Given the description of an element on the screen output the (x, y) to click on. 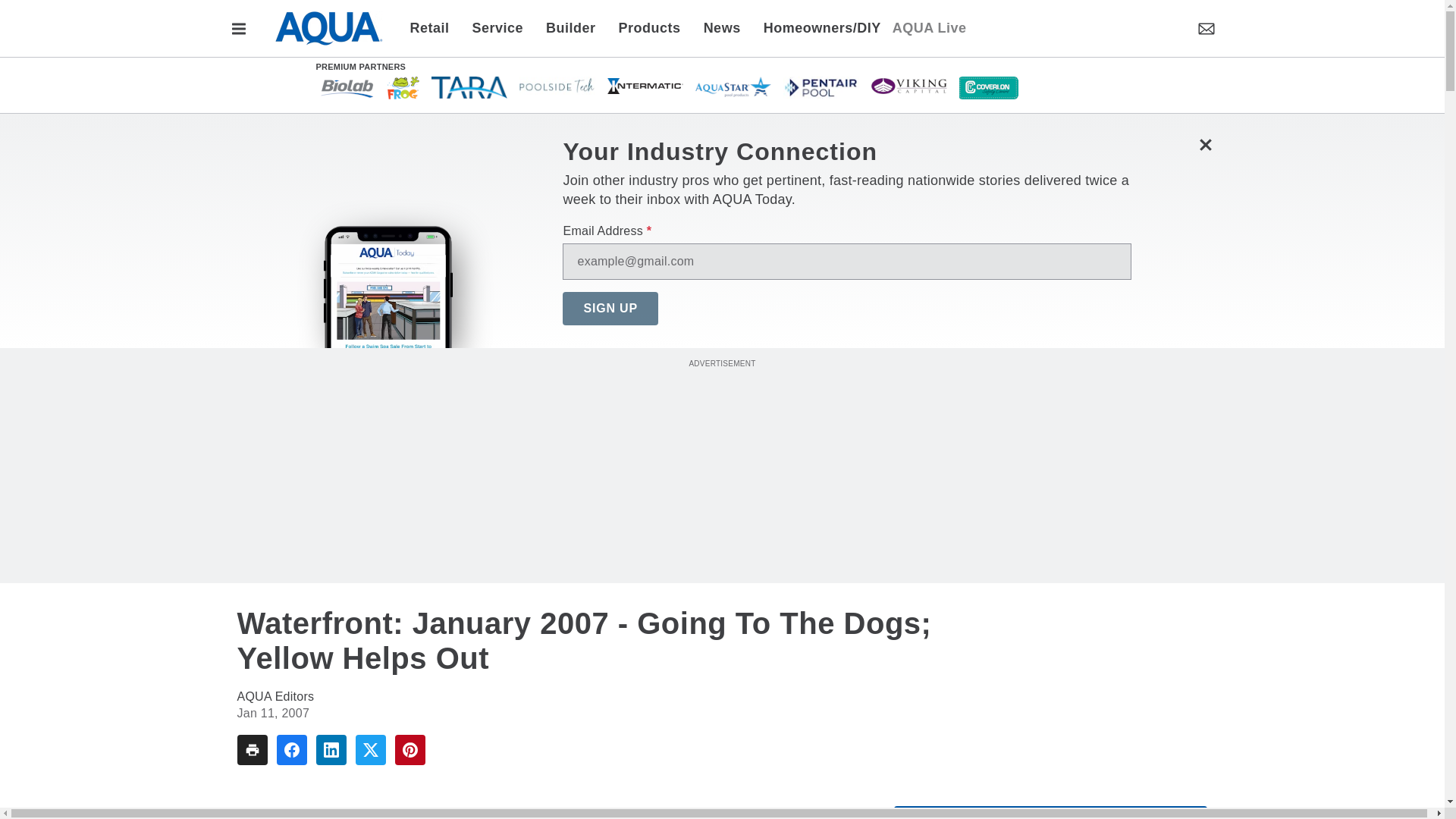
FROG (403, 87)
Builder (570, 27)
AQUA Live (929, 27)
BioLab (346, 87)
Products (650, 27)
Retail (434, 27)
Poolside Tech (556, 85)
TARA (468, 86)
Service (498, 27)
News (722, 27)
